Given the description of an element on the screen output the (x, y) to click on. 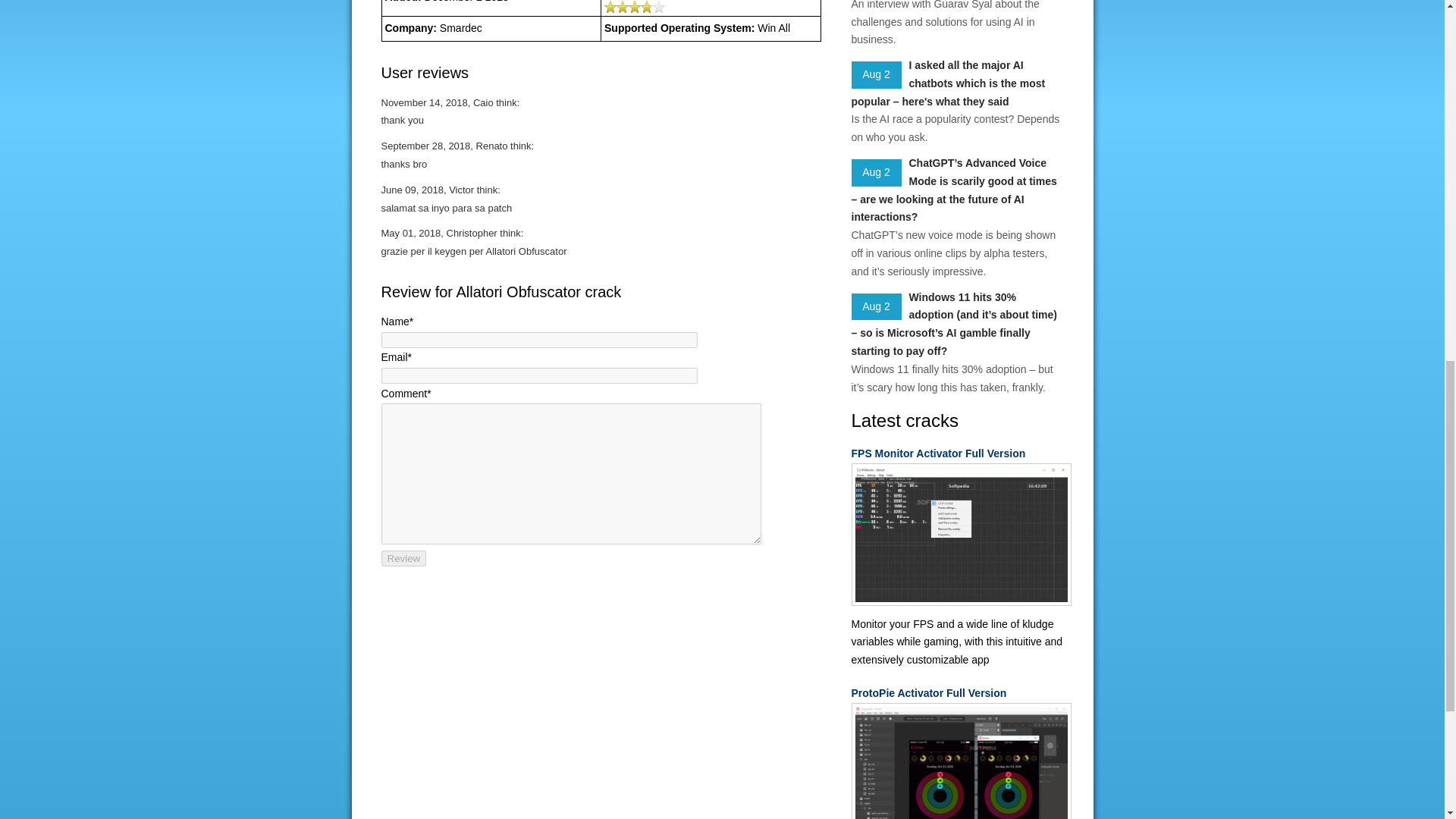
Review (403, 558)
ProtoPie Activator Full Version (956, 693)
FPS Monitor Activator Full Version (956, 454)
Review (403, 558)
